Given the description of an element on the screen output the (x, y) to click on. 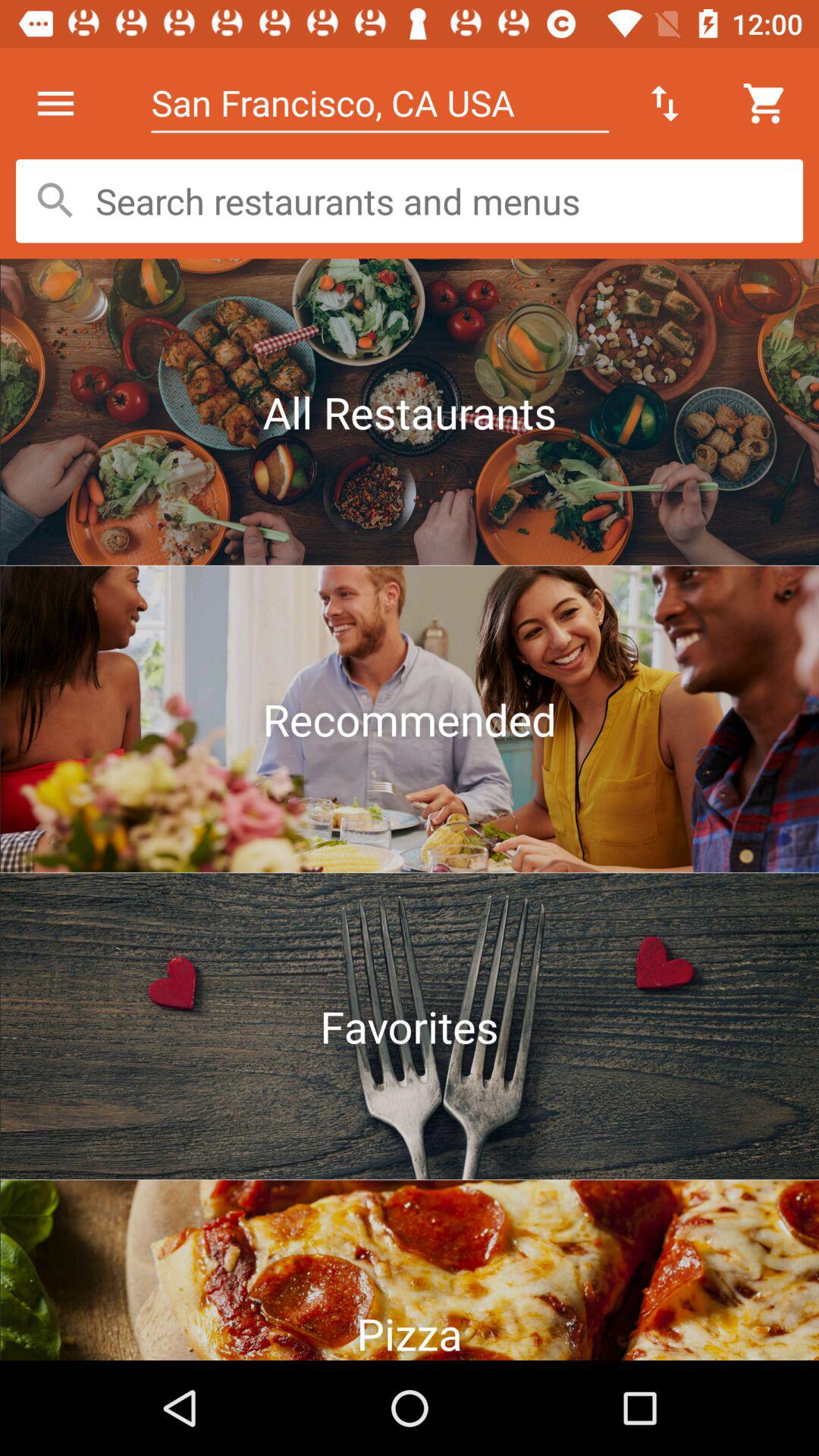
enter the restaurants and menus to search (409, 200)
